Given the description of an element on the screen output the (x, y) to click on. 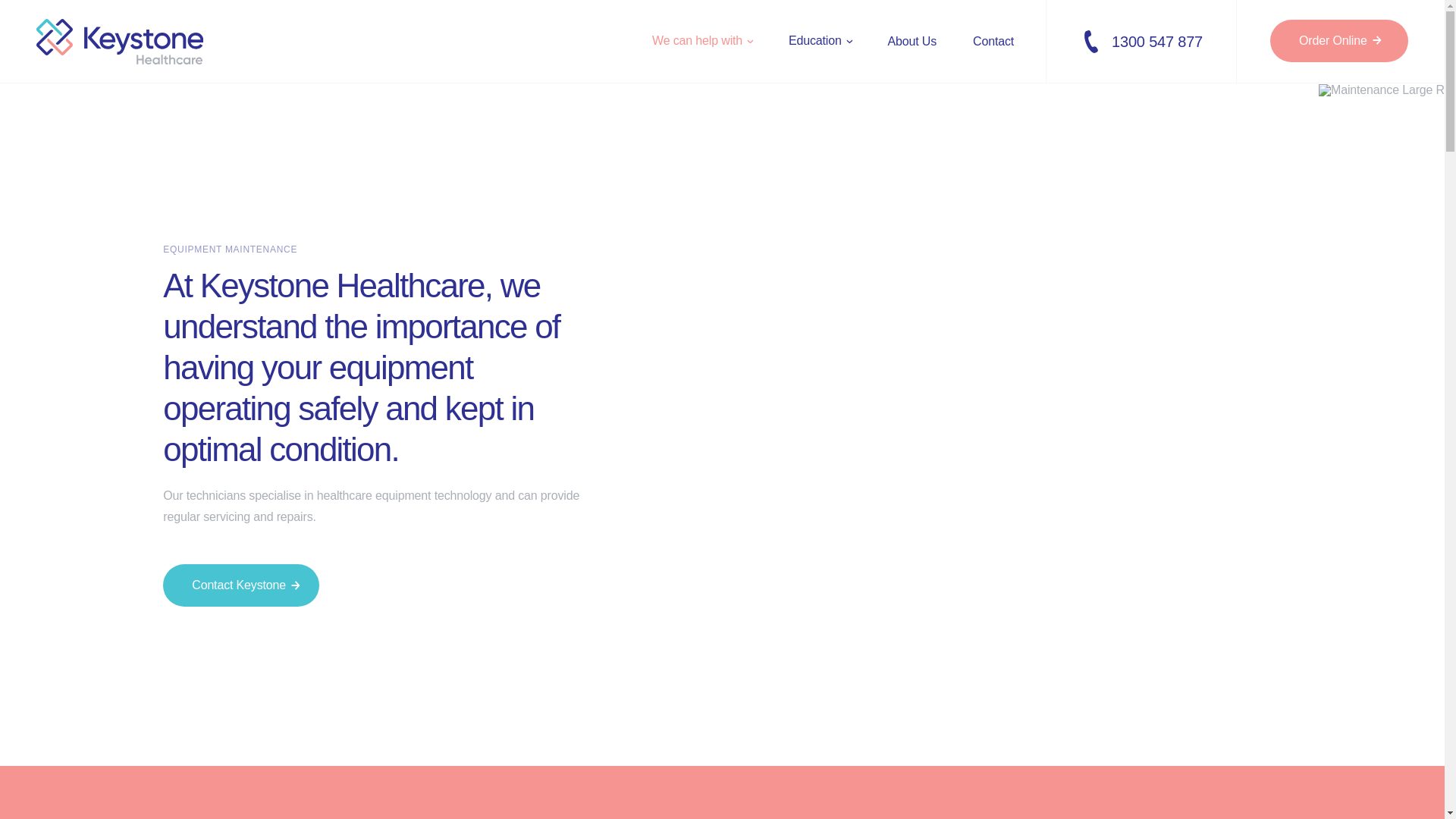
Order Online Element type: text (1339, 40)
Contact Element type: text (993, 40)
About Us Element type: text (911, 40)
Contact Keystone Element type: text (241, 585)
